Given the description of an element on the screen output the (x, y) to click on. 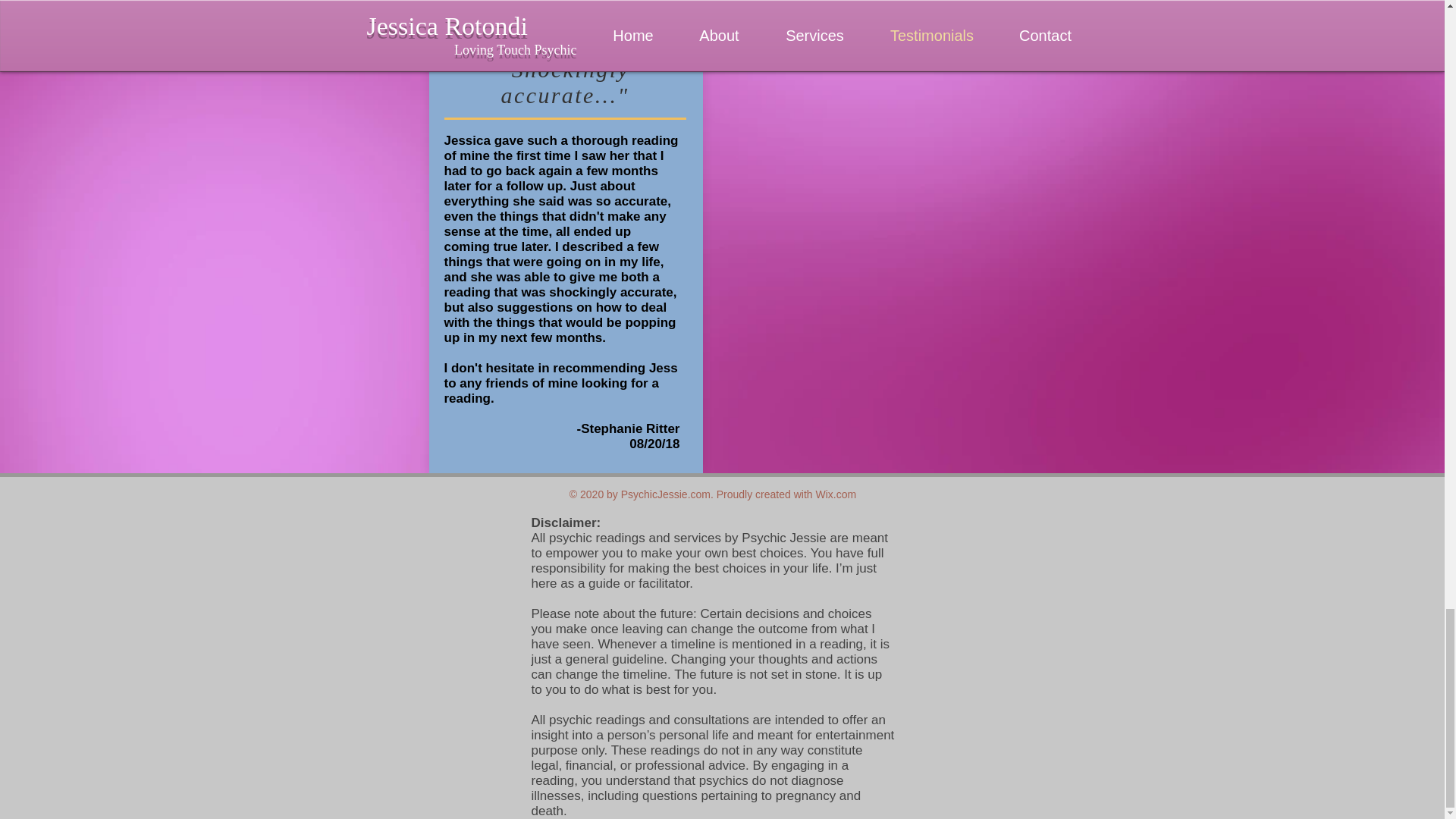
Wix.com (836, 494)
